Given the description of an element on the screen output the (x, y) to click on. 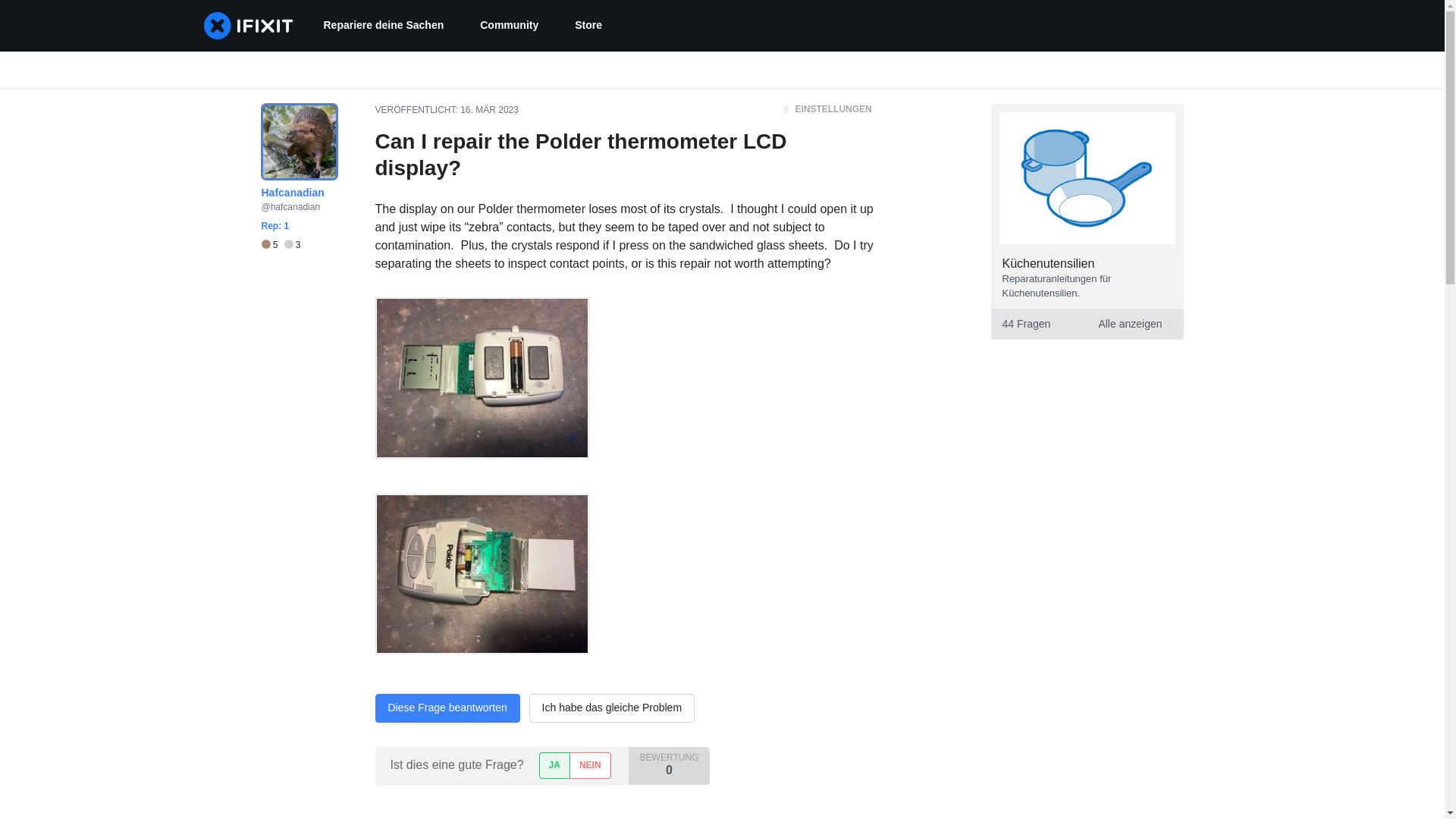
5 3 (1086, 323)
Diese Frage beantworten (279, 245)
Repariere deine Sachen (446, 707)
NEIN (382, 25)
JA (590, 765)
Thu, 16 Mar 2023 17:52:08 -0700 (553, 765)
Community (489, 109)
Store (508, 25)
3 Silber Auszeichnungen (588, 25)
5 Bronze Auszeichnungen (292, 245)
Ich habe das gleiche Problem (271, 245)
